Given the description of an element on the screen output the (x, y) to click on. 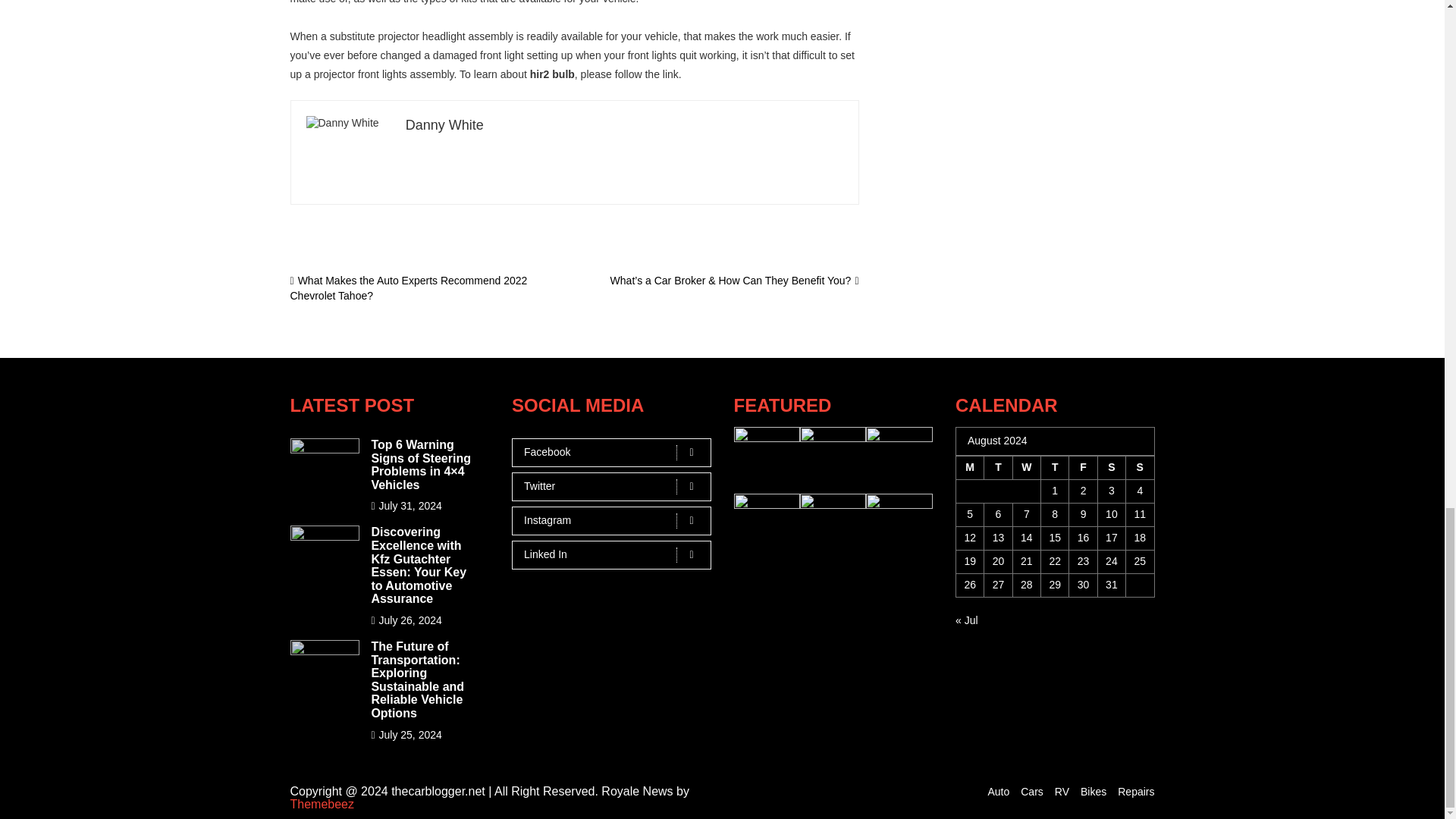
Danny White (444, 124)
What Makes the Auto Experts Recommend 2022 Chevrolet Tahoe? (408, 288)
Thursday (1054, 467)
Wednesday (1026, 467)
Sunday (1139, 467)
Saturday (1111, 467)
Monday (969, 467)
Tuesday (997, 467)
Friday (1082, 467)
hir2 bulb (552, 73)
